Given the description of an element on the screen output the (x, y) to click on. 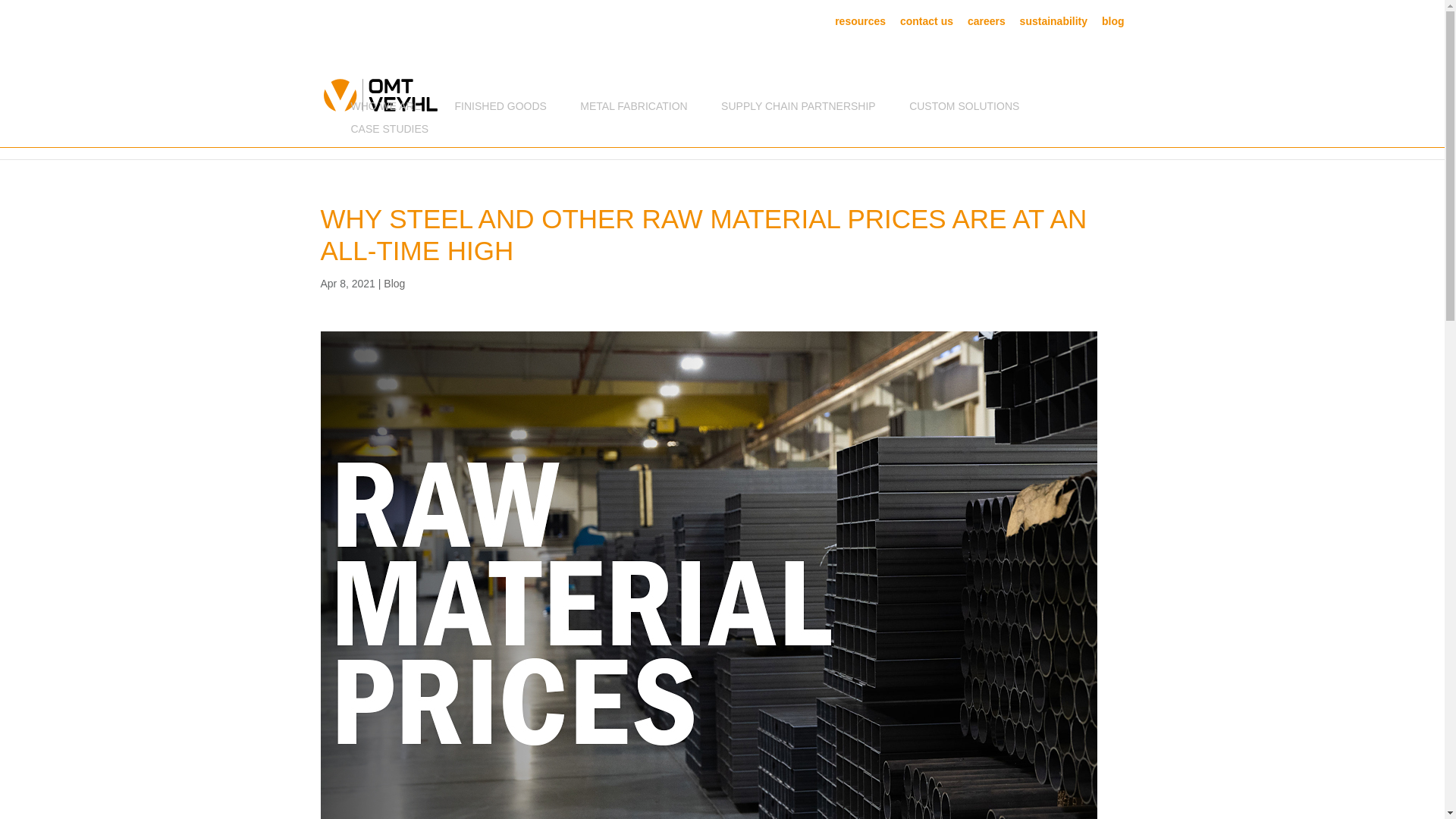
contact us (926, 24)
resources (859, 24)
SUPPLY CHAIN PARTNERSHIP (798, 109)
WHO WE ARE (385, 109)
CASE STUDIES (389, 131)
blog (1113, 24)
Blog (394, 283)
FINISHED GOODS (500, 109)
sustainability (1053, 24)
CUSTOM SOLUTIONS (963, 109)
